Given the description of an element on the screen output the (x, y) to click on. 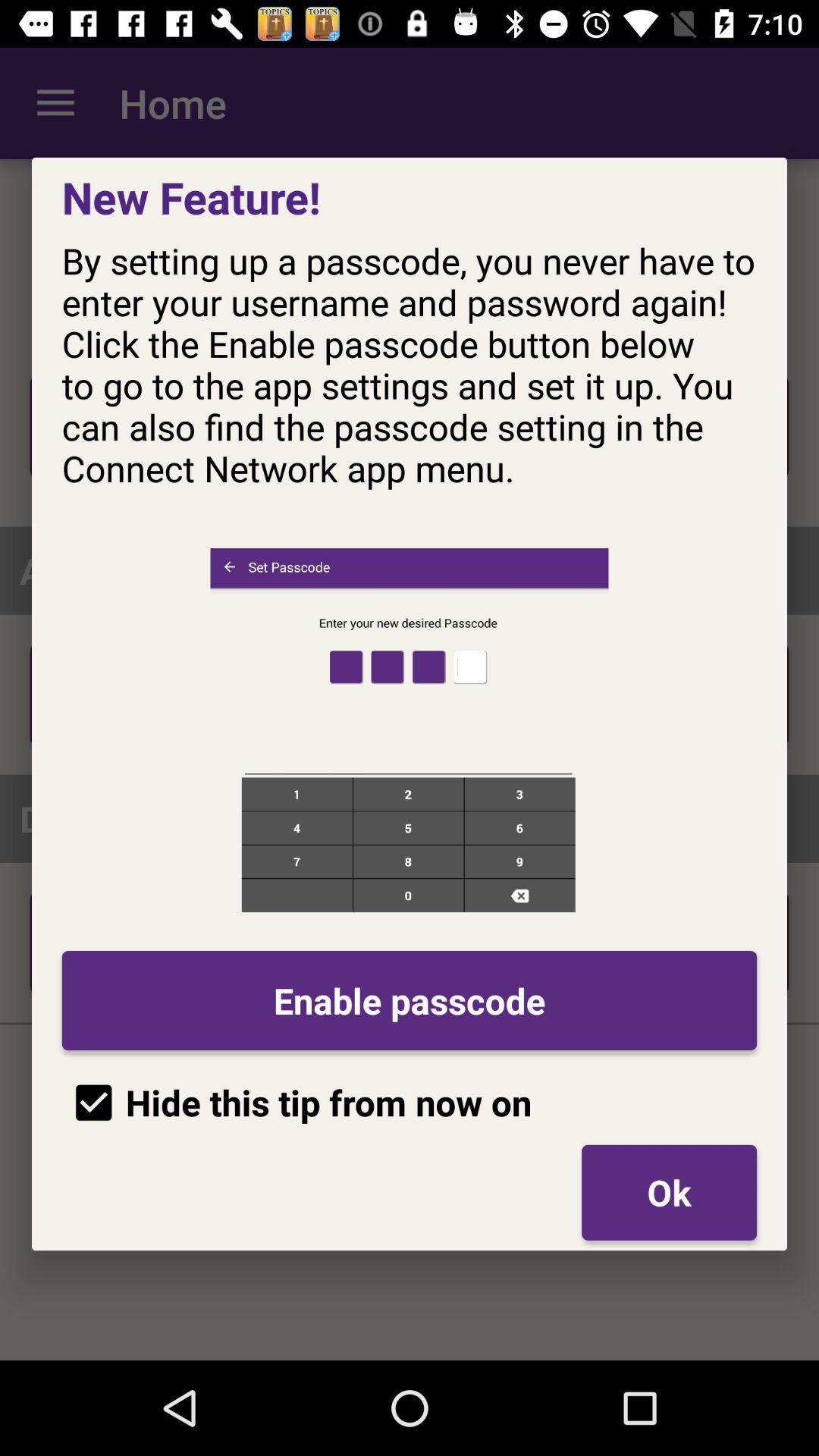
flip until the ok item (669, 1192)
